Given the description of an element on the screen output the (x, y) to click on. 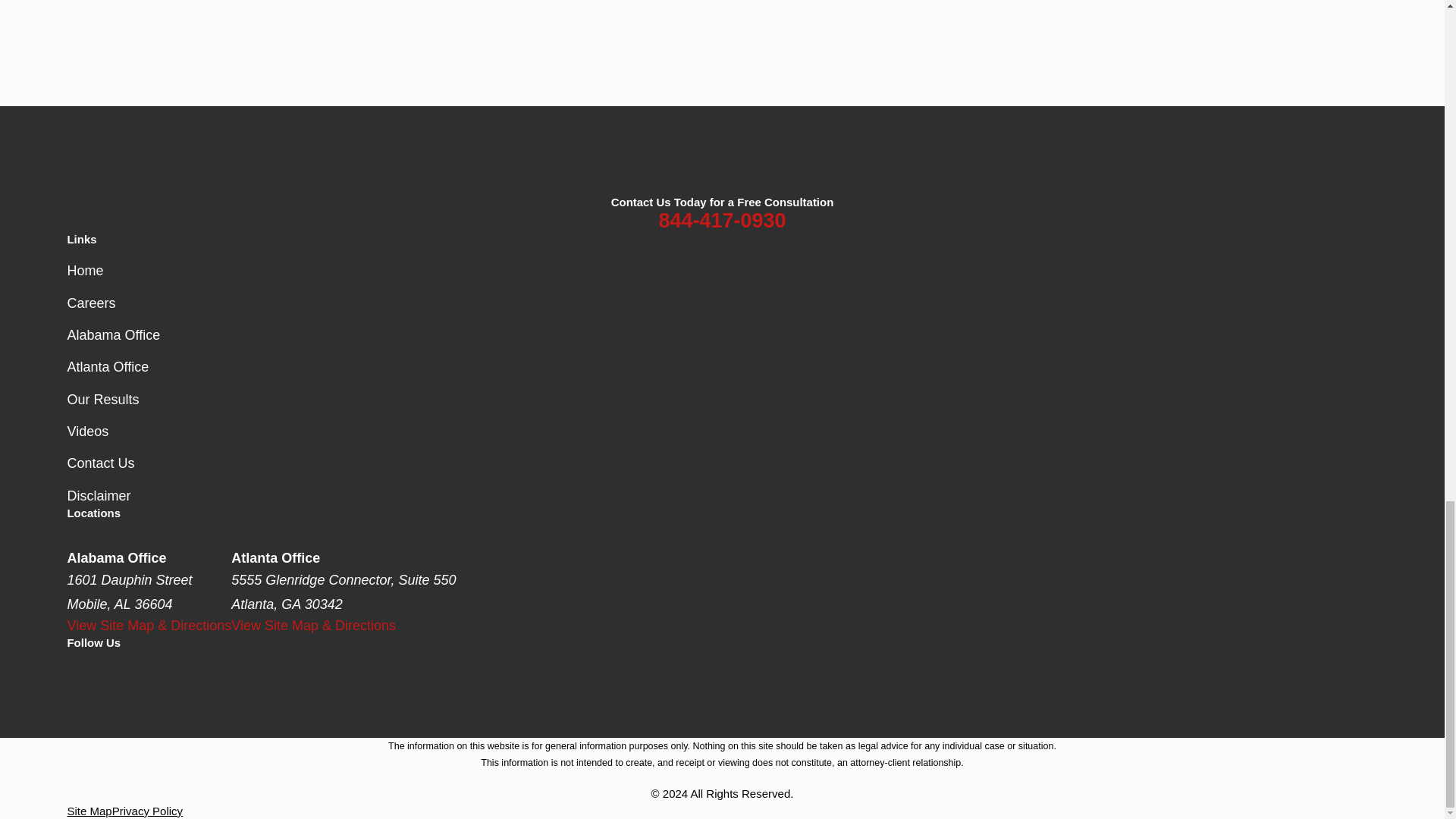
Google Business Profile (195, 674)
LinkedIn (115, 674)
Facebook (75, 674)
Instagram (156, 674)
YouTube (234, 674)
Twitter (273, 674)
